Given the description of an element on the screen output the (x, y) to click on. 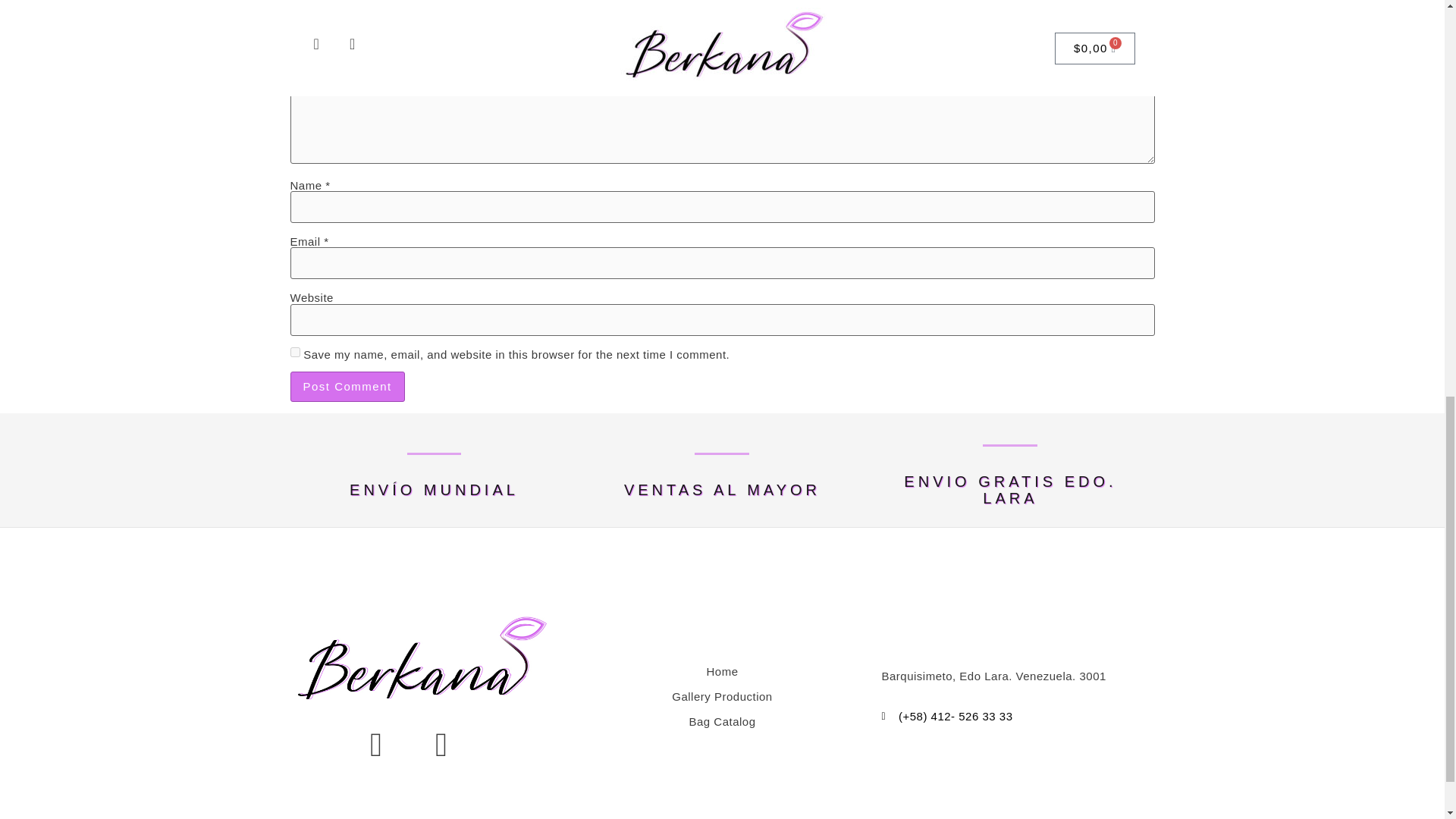
Post Comment (346, 386)
yes (294, 352)
Post Comment (346, 386)
